Given the description of an element on the screen output the (x, y) to click on. 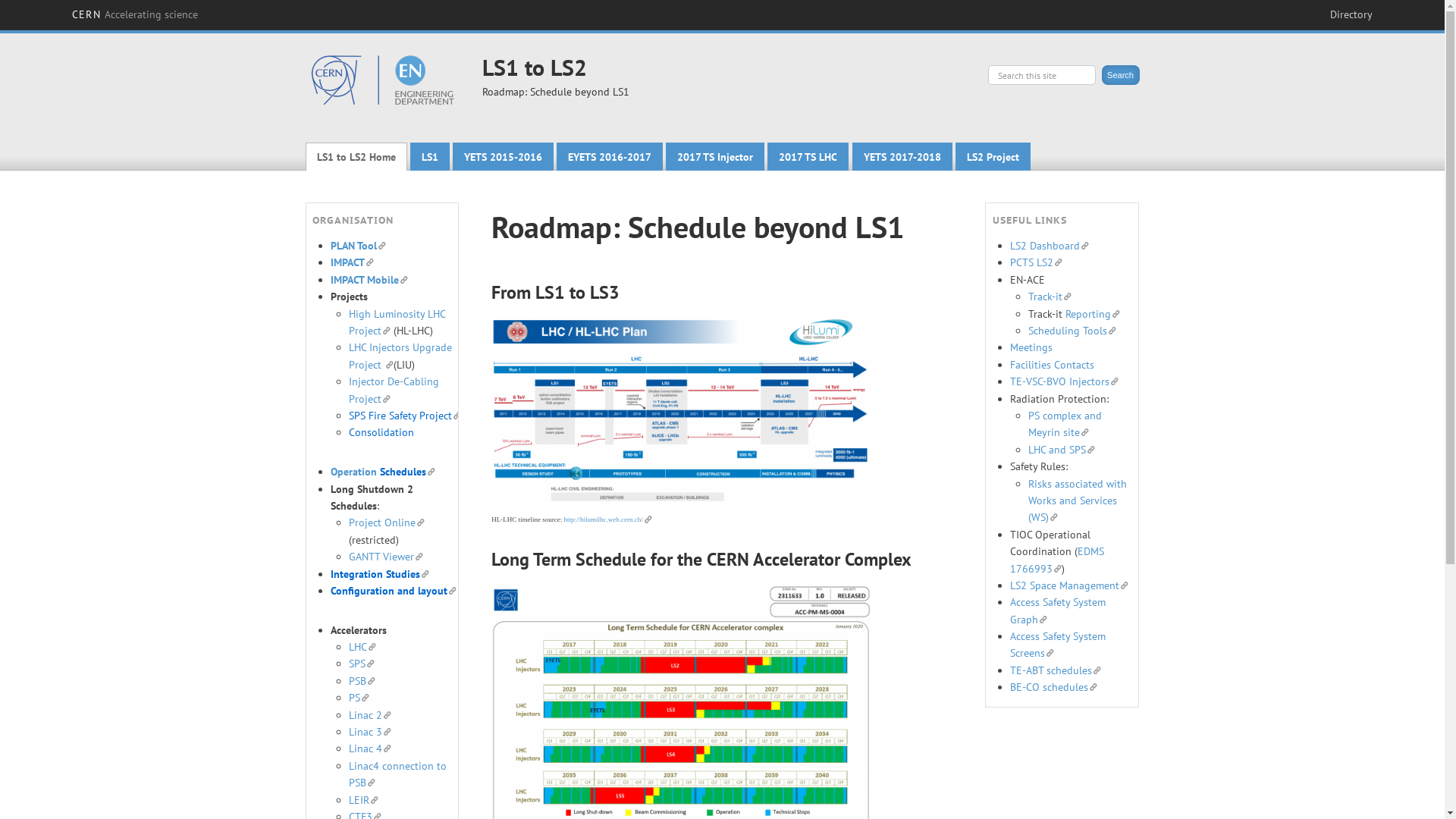
LS1 to LS2 Home Element type: text (355, 156)
LS2 Project Element type: text (992, 156)
Meetings Element type: text (1031, 347)
Linac4 connection to PSB Element type: text (397, 774)
LS1 to LS2 Element type: text (534, 66)
LHC Injectors Upgrade Project Element type: text (399, 355)
PSB Element type: text (361, 680)
CERN Accelerating science Element type: text (134, 14)
SPS Fire Safety Project Element type: text (404, 415)
LS1 Element type: text (429, 156)
TE-ABT schedules Element type: text (1055, 670)
LS2 Space Management Element type: text (1069, 585)
IMPACT Element type: text (351, 262)
Operation Schedules Element type: text (382, 471)
IMPACT Mobile Element type: text (368, 279)
Integration Studies Element type: text (379, 573)
2017 TS LHC Element type: text (807, 156)
Injector De-Cabling Project Element type: text (393, 389)
http://hilumilhc.web.cern.ch/ Element type: text (607, 519)
Home Element type: hover (379, 86)
Linac 2 Element type: text (369, 714)
Linac 3 Element type: text (369, 731)
2017 TS Injector Element type: text (714, 156)
SPS Element type: text (361, 663)
LHC Element type: text (362, 646)
Access Safety System Graph Element type: text (1057, 610)
EDMS 1766993 Element type: text (1057, 559)
High Luminosity LHC Project Element type: text (396, 322)
GANTT Viewer Element type: text (385, 556)
Facilities Contacts Element type: text (1052, 364)
PCTS LS2 Element type: text (1036, 262)
Risks associated with Works and Services (WS) Element type: text (1077, 500)
YETS 2015-2016 Element type: text (502, 156)
TE-VSC-BVO Injectors Element type: text (1064, 381)
Configuration and layout Element type: text (393, 590)
EYETS 2016-2017 Element type: text (609, 156)
Linac 4 Element type: text (369, 748)
PS Element type: text (358, 697)
Search Element type: text (1120, 74)
LS2 Dashboard Element type: text (1049, 245)
YETS 2017-2018 Element type: text (902, 156)
BE-CO schedules Element type: text (1053, 686)
Consolidation Element type: text (381, 432)
PS complex and Meyrin site Element type: text (1064, 423)
Scheduling Tools Element type: text (1072, 330)
Reporting Element type: text (1092, 313)
Project Online Element type: text (386, 522)
LEIR Element type: text (363, 799)
PLAN Tool Element type: text (357, 245)
LHC and SPS Element type: text (1061, 449)
Access Safety System Screens Element type: text (1057, 644)
Directory Element type: text (1351, 14)
Track-it Element type: text (1049, 296)
